Given the description of an element on the screen output the (x, y) to click on. 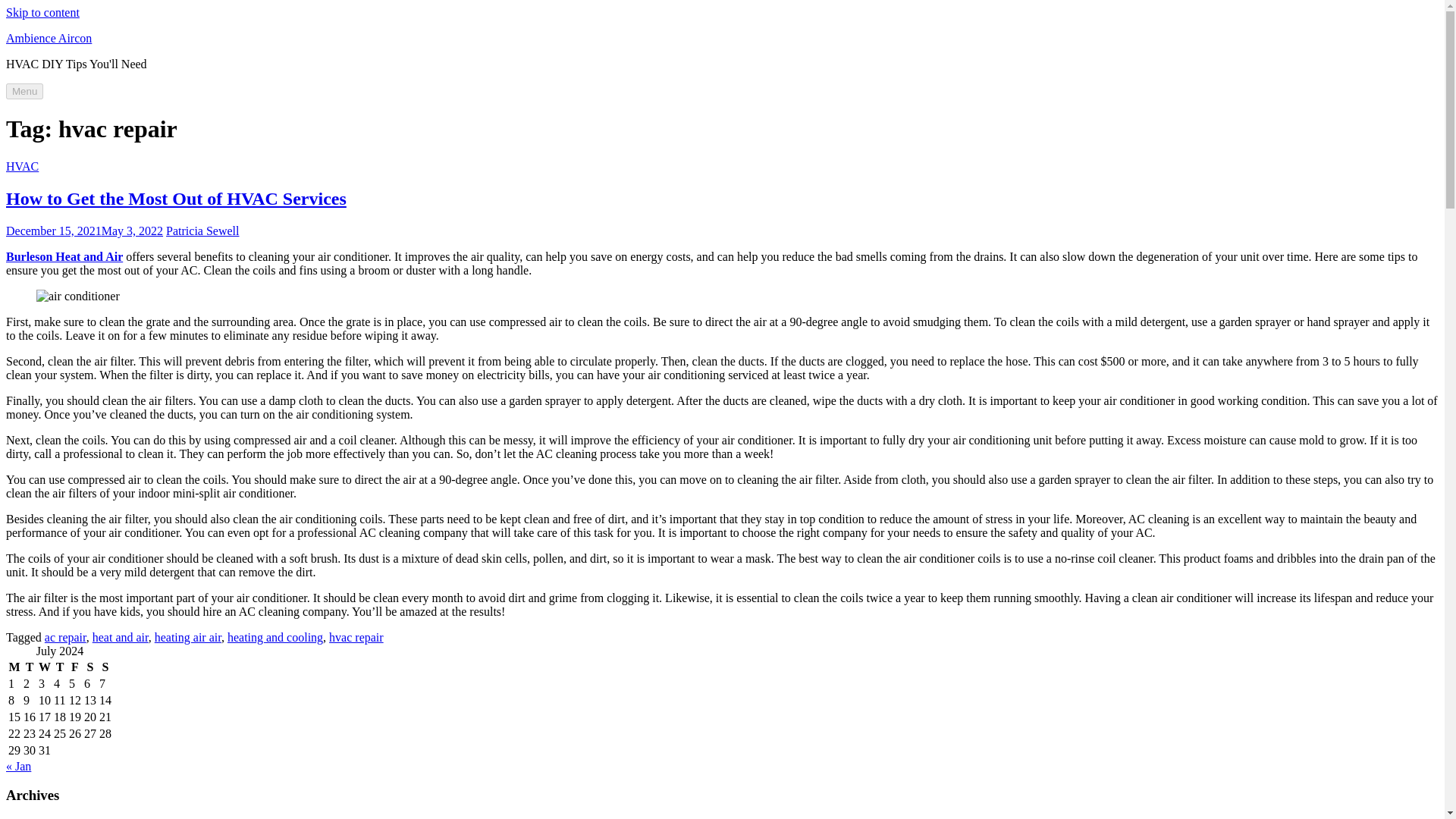
Burleson Heat and Air (63, 256)
Skip to content (42, 11)
How to Get the Most Out of HVAC Services (175, 198)
Patricia Sewell (201, 230)
Wednesday (43, 667)
Sunday (105, 667)
December 15, 2021May 3, 2022 (84, 230)
January 2024 (68, 818)
Ambience Aircon (48, 38)
Monday (14, 667)
Saturday (89, 667)
heating air air (187, 636)
heating and cooling (275, 636)
ac repair (65, 636)
heat and air (120, 636)
